Given the description of an element on the screen output the (x, y) to click on. 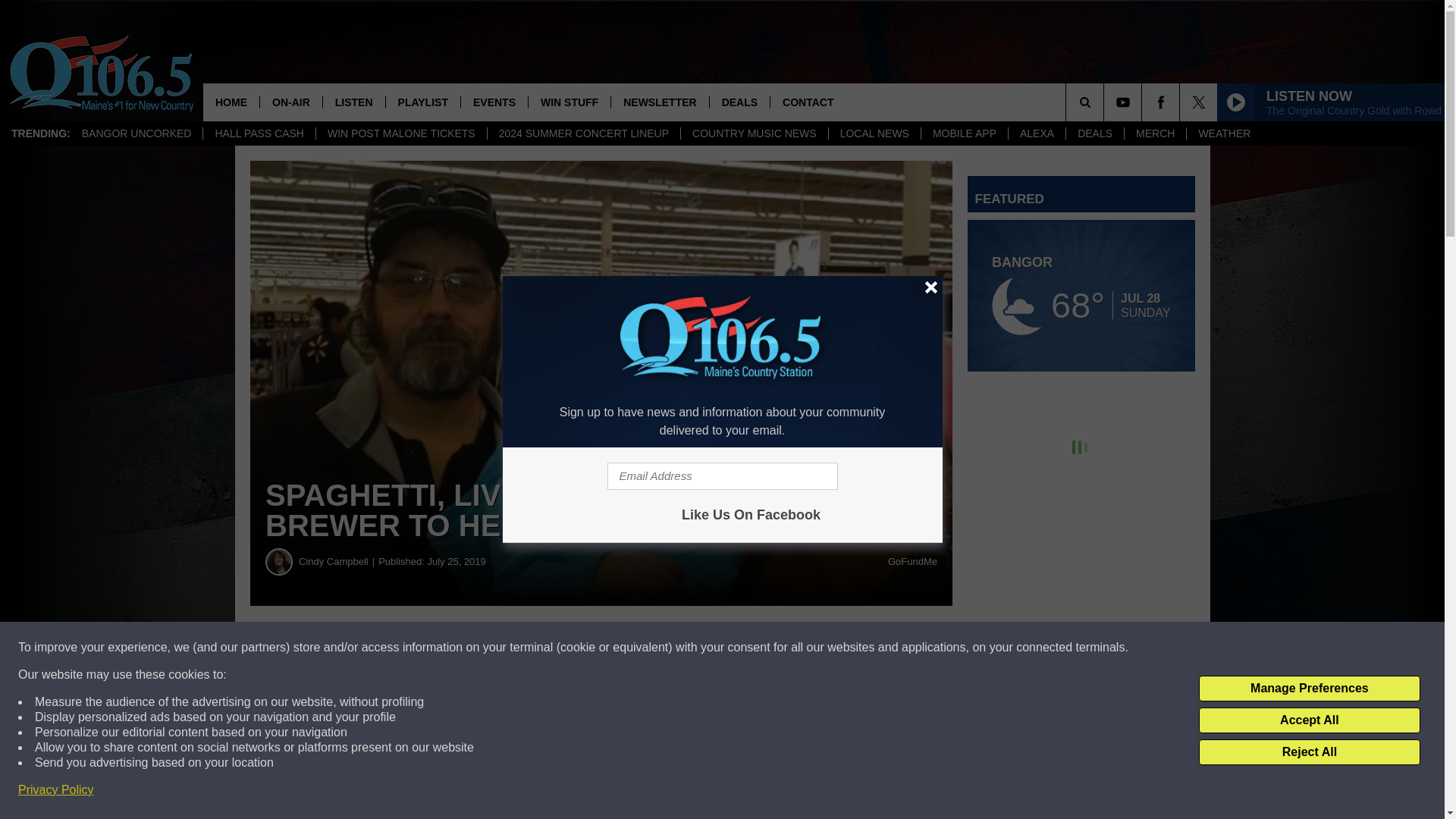
MOBILE APP (963, 133)
LOCAL NEWS (874, 133)
WEATHER (1224, 133)
Email Address (722, 475)
EVENTS (493, 102)
Accept All (1309, 720)
BANGOR UNCORKED (136, 133)
LISTEN (353, 102)
MERCH (1155, 133)
COUNTRY MUSIC NEWS (753, 133)
Privacy Policy (55, 789)
SEARCH (1106, 102)
SEARCH (1106, 102)
HALL PASS CASH (258, 133)
HOME (231, 102)
